Given the description of an element on the screen output the (x, y) to click on. 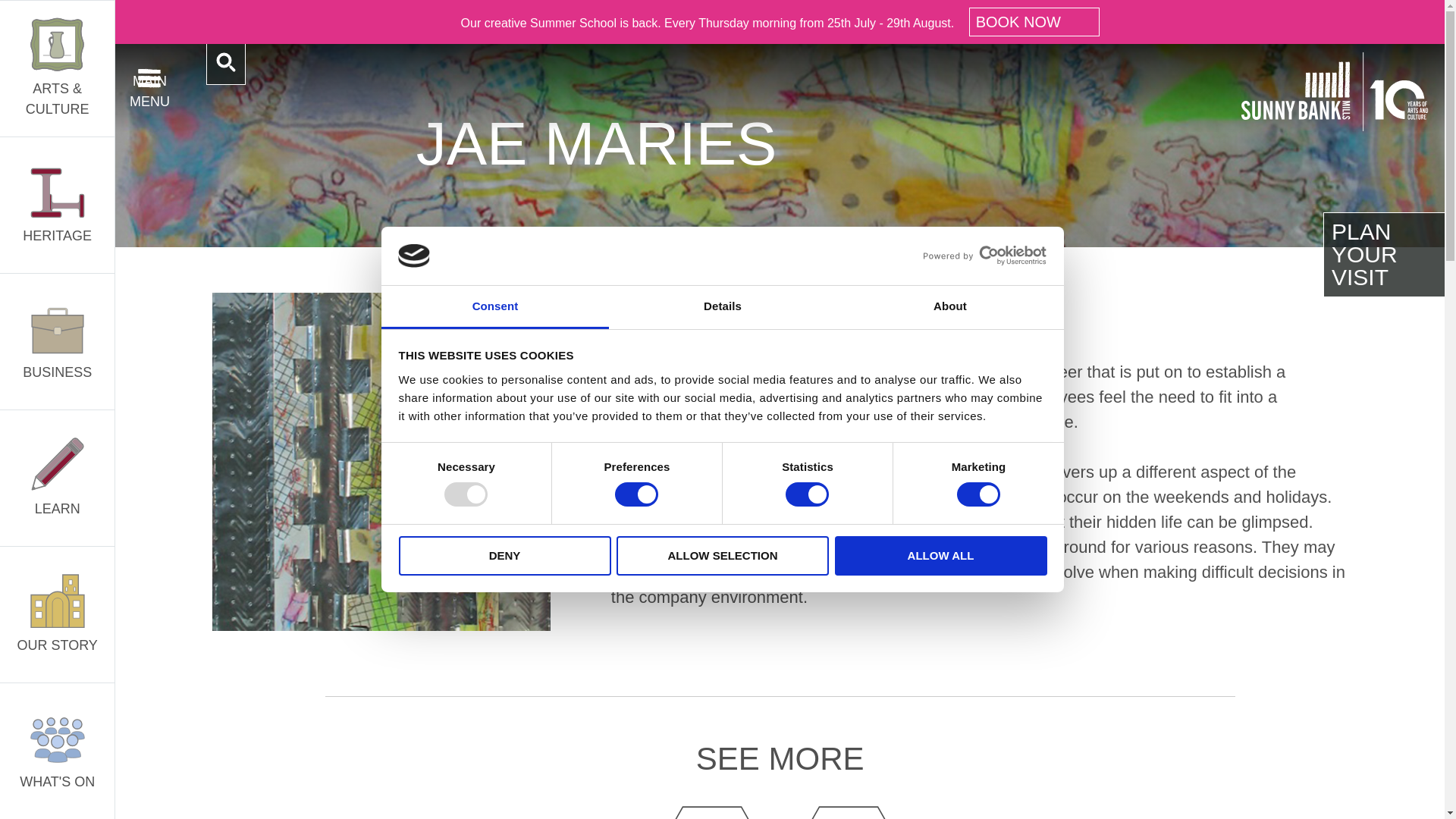
About (948, 307)
Consent (494, 307)
Details (721, 307)
